Given the description of an element on the screen output the (x, y) to click on. 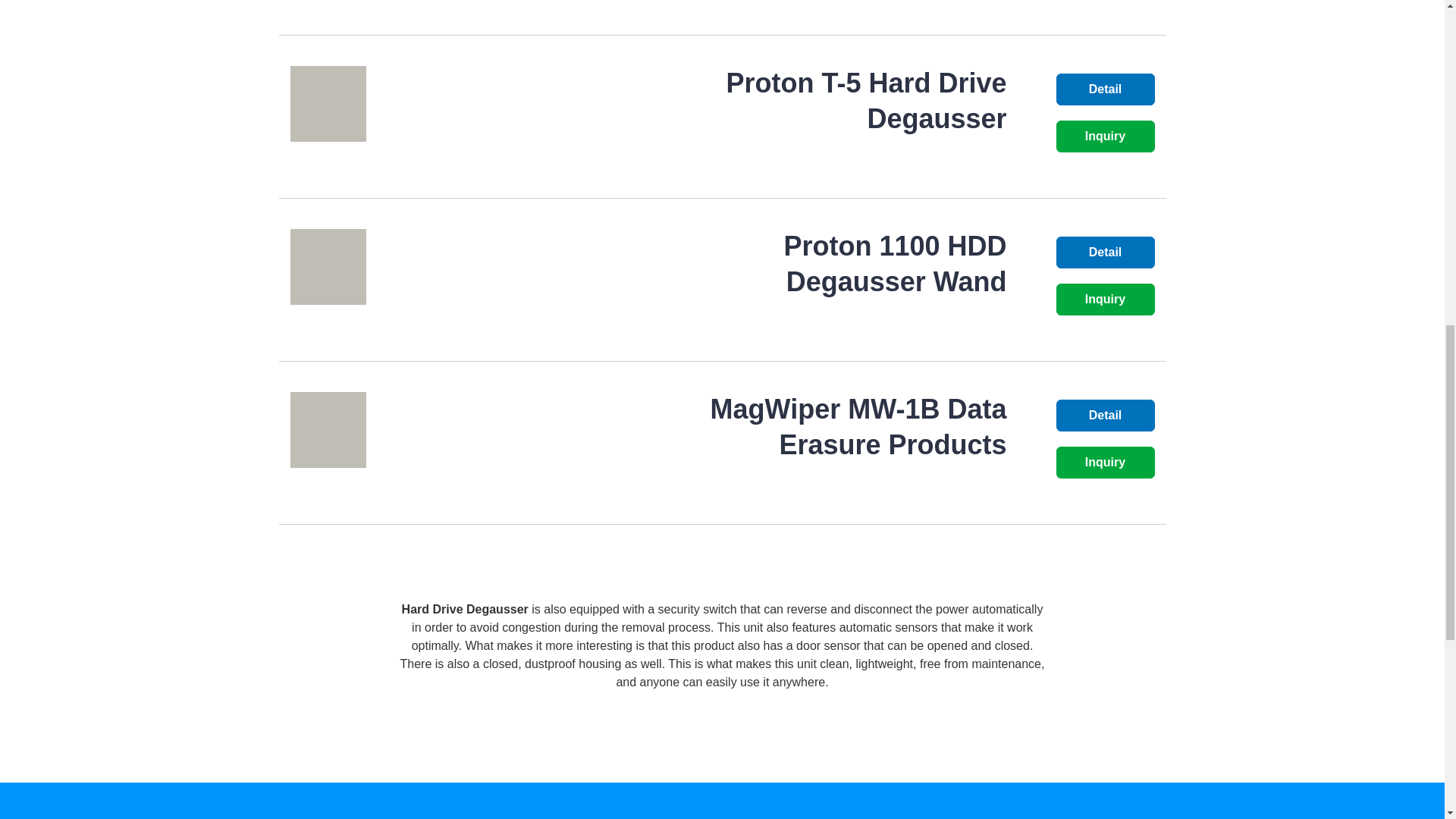
MagWiper MW-1B Data Erasure Products (858, 426)
Detail (1104, 252)
Inquiry (1104, 136)
Proton 1100 HDD Degausser Wand Detail (463, 266)
Inquiry (1104, 462)
MagWiper MW-1B Data Erasure Products Detail (858, 426)
Proton T-5 Hard Drive Degausser (865, 100)
Inquiry (1104, 299)
MagWiper MW-1B Data Erasure Products Detail (463, 429)
Detail (1104, 415)
